Given the description of an element on the screen output the (x, y) to click on. 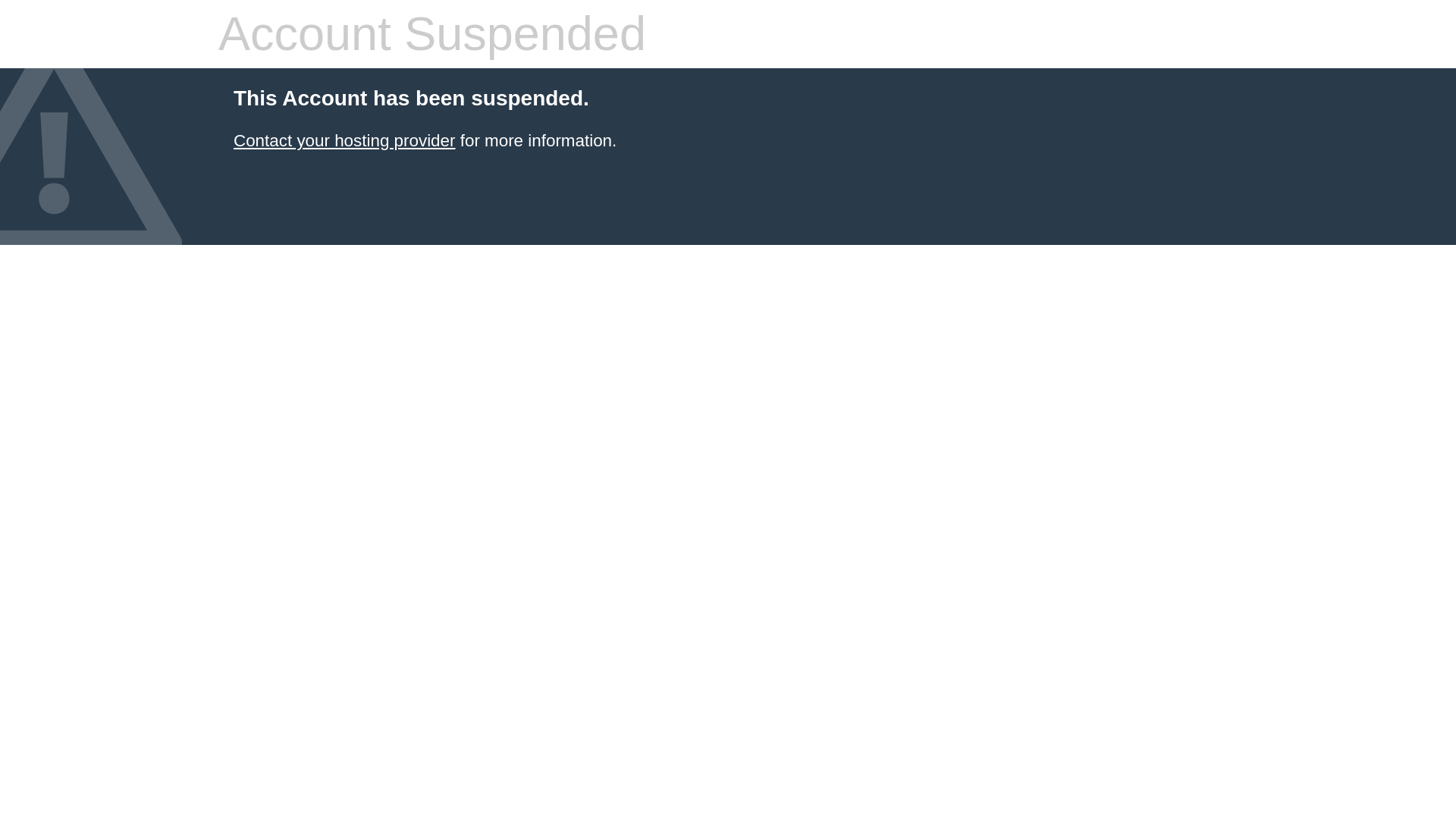
Contact your hosting provider (343, 140)
